Given the description of an element on the screen output the (x, y) to click on. 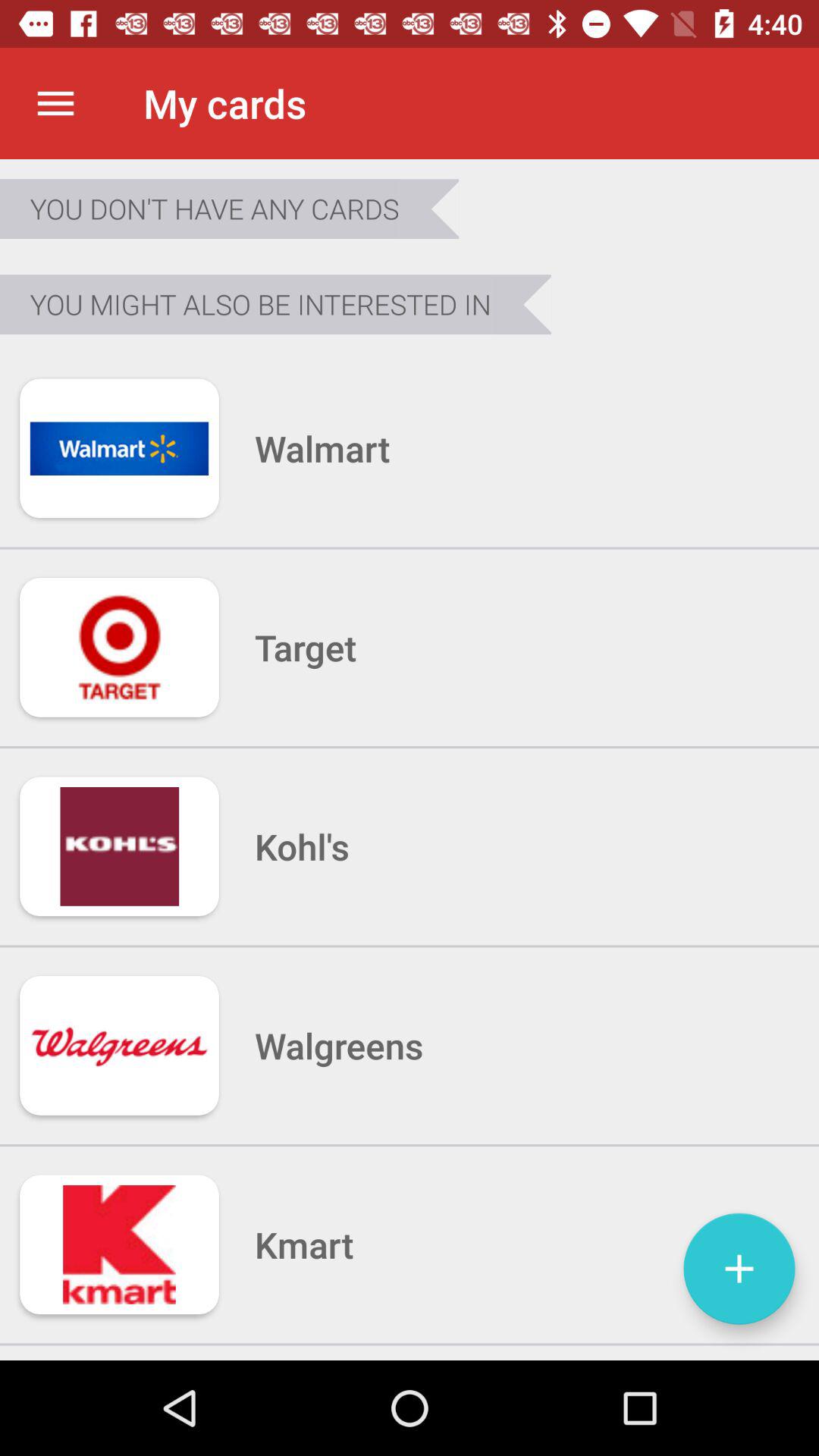
turn on the item at the bottom right corner (739, 1268)
